Given the description of an element on the screen output the (x, y) to click on. 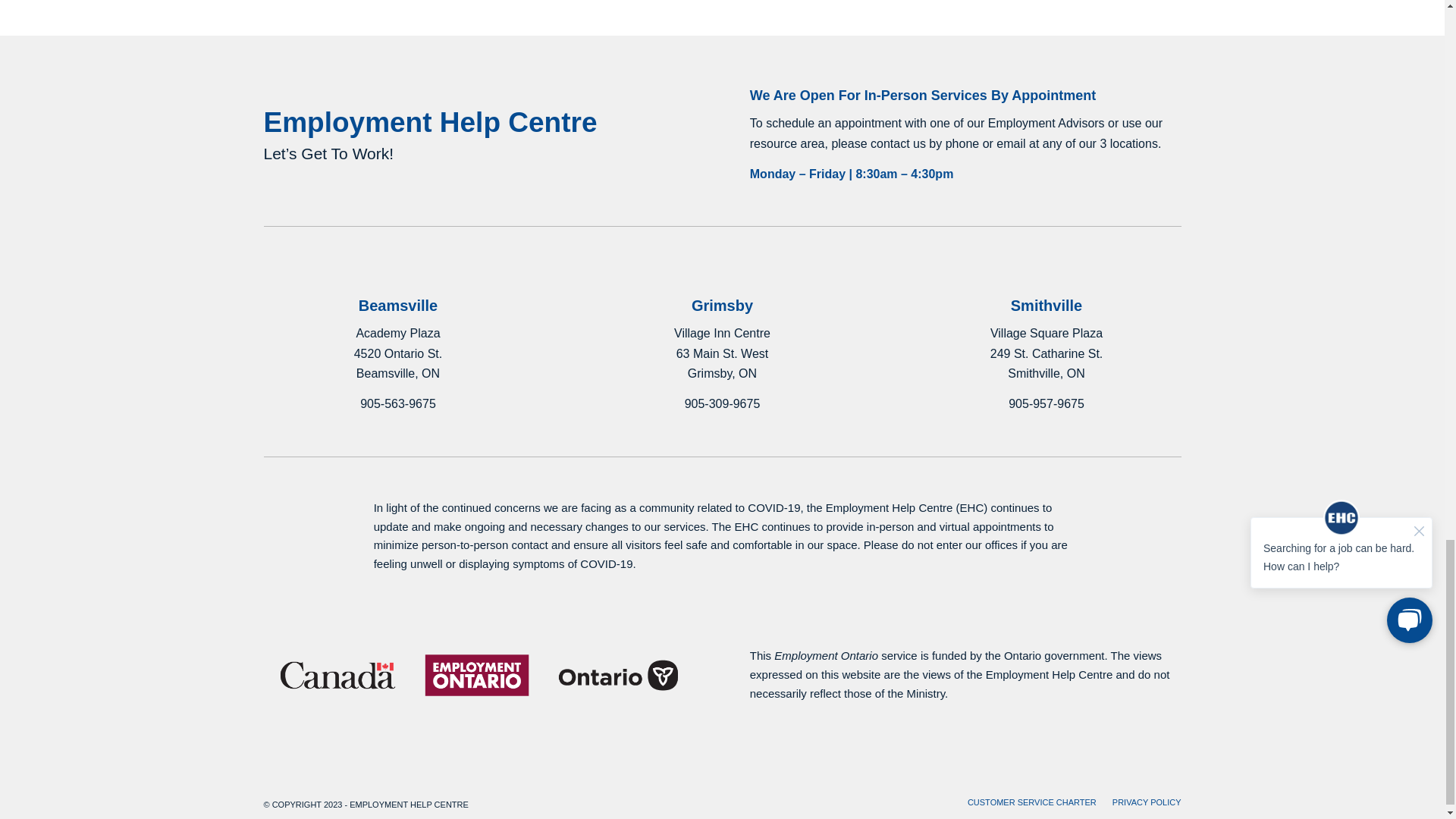
PRIVACY POLICY (1146, 801)
CUSTOMER SERVICE CHARTER (1032, 801)
